Given the description of an element on the screen output the (x, y) to click on. 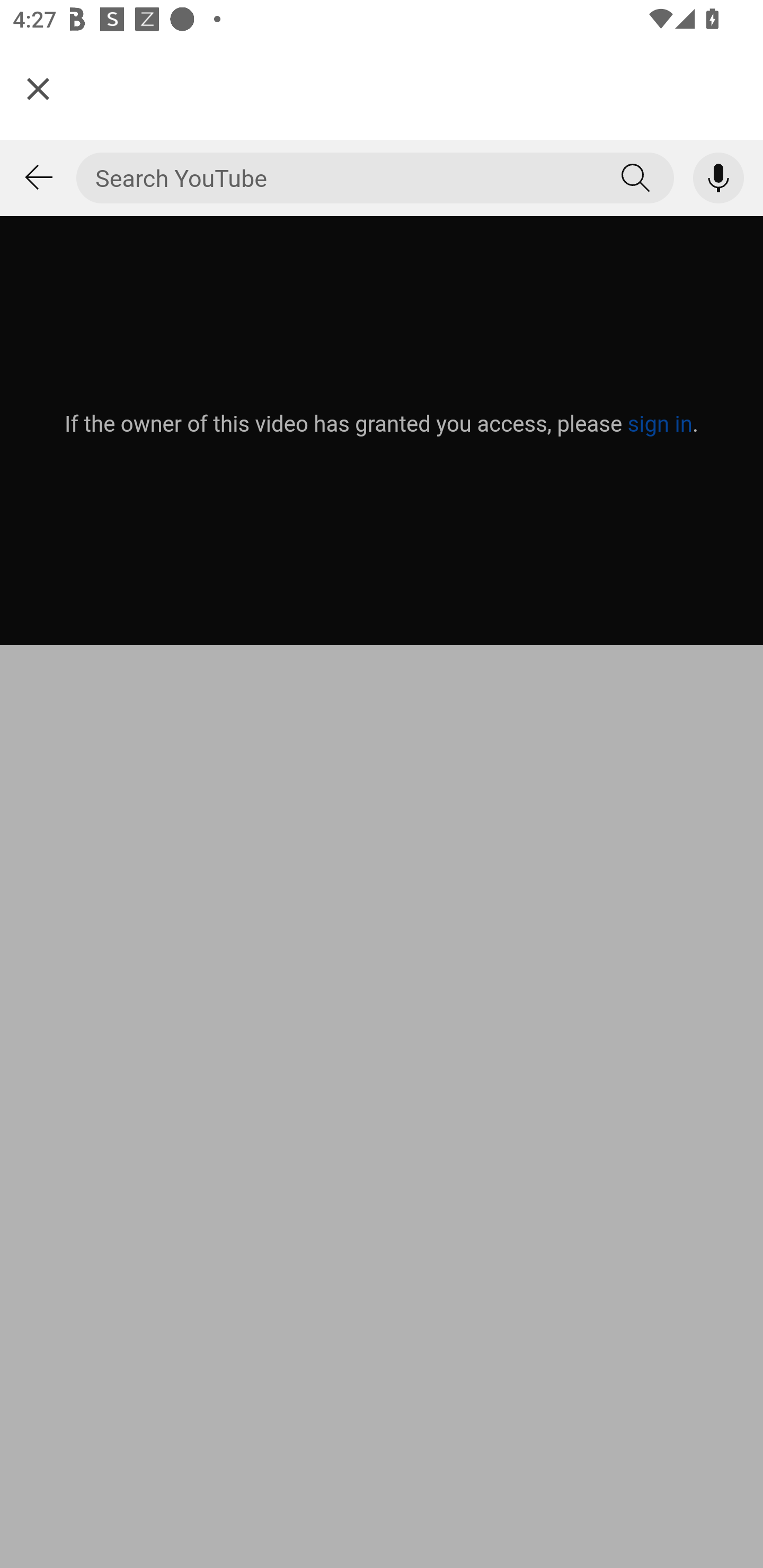
Close (38, 88)
Close search Search YouTube Search with your voice (381, 391)
Close search (38, 177)
Search YouTube (635, 177)
Search with your voice (718, 177)
